Given the description of an element on the screen output the (x, y) to click on. 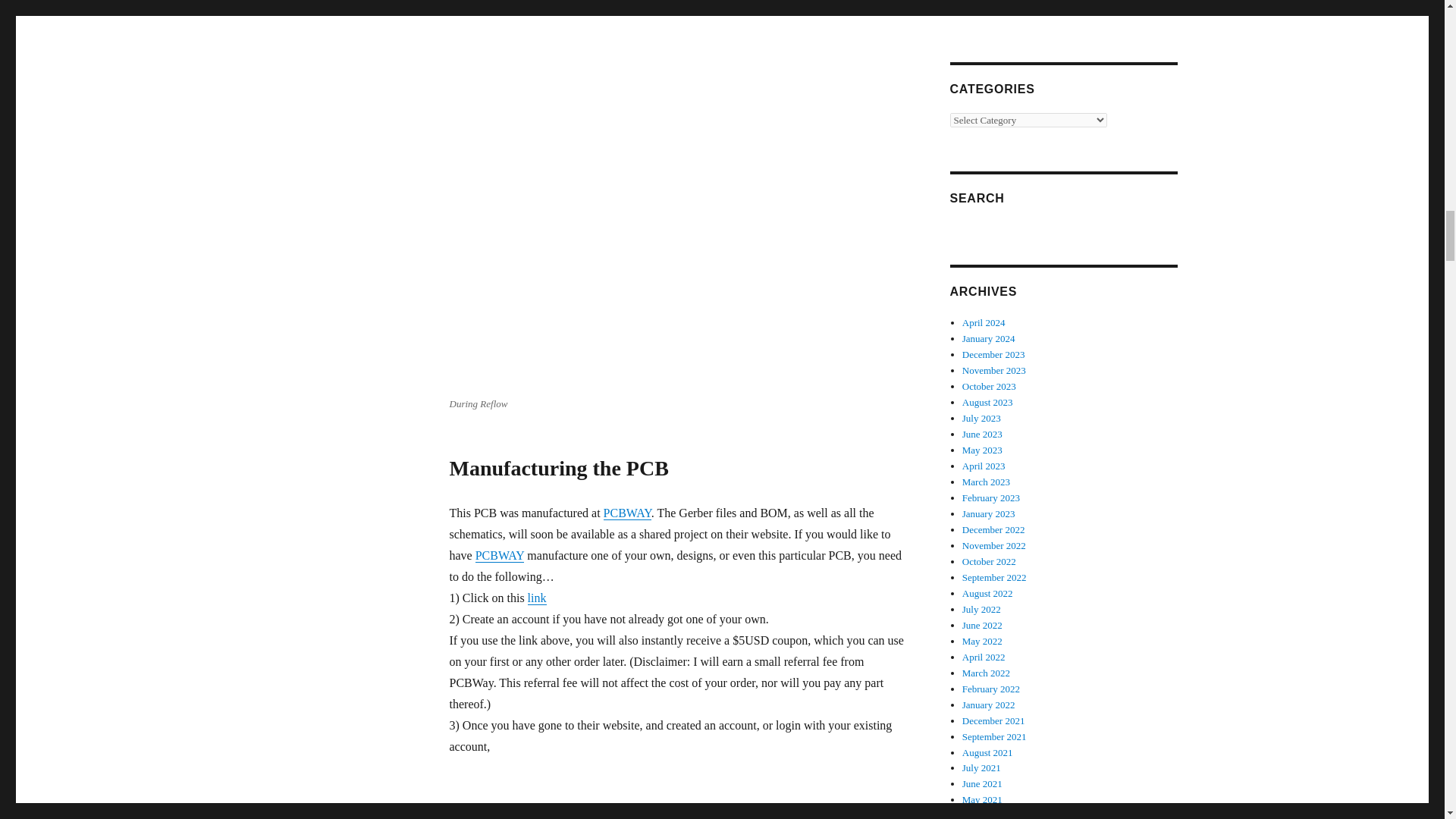
link (537, 597)
PCBWAY (500, 554)
PCBWAY (627, 512)
